Given the description of an element on the screen output the (x, y) to click on. 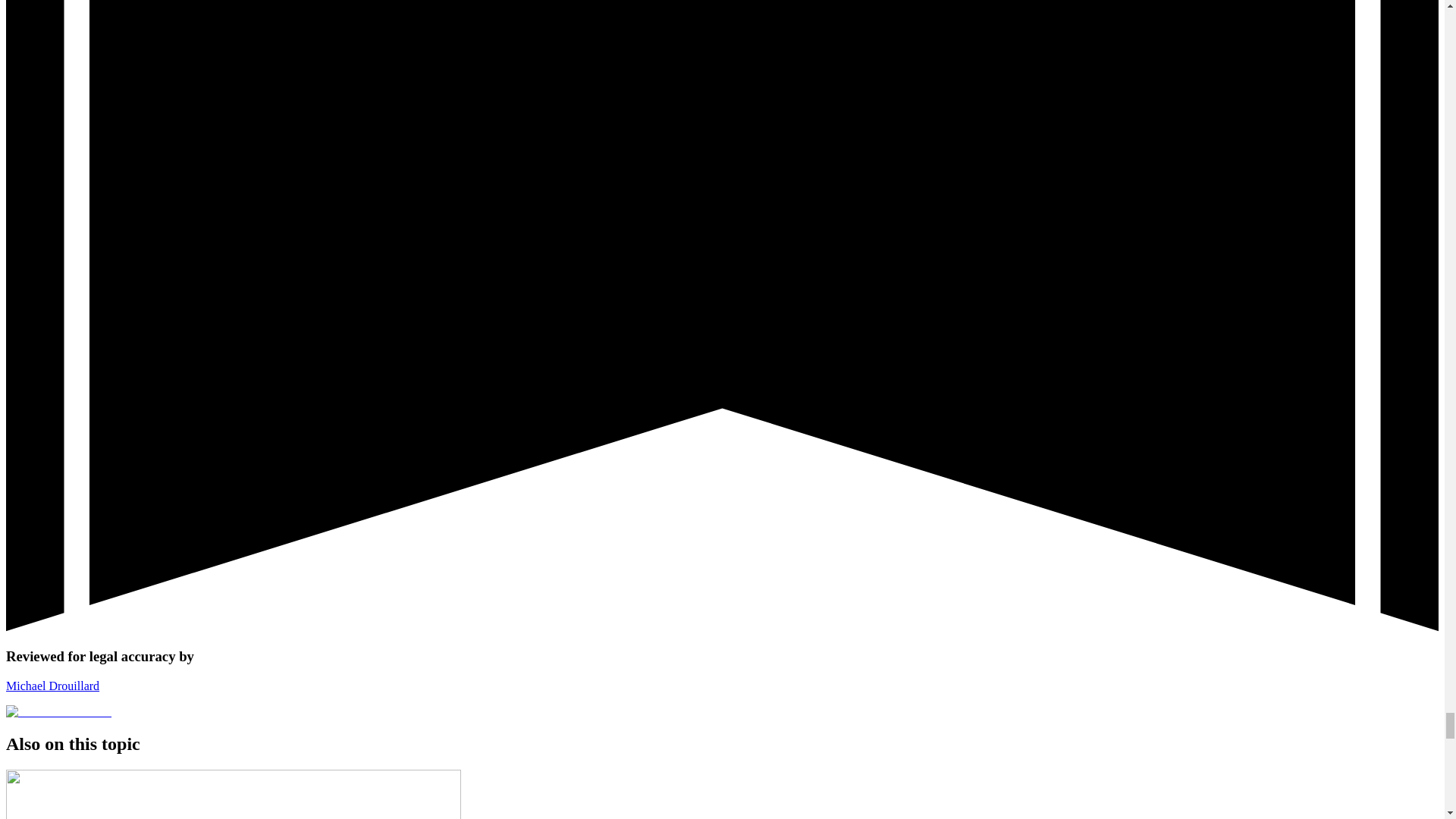
Michael Drouillard (58, 712)
